Given the description of an element on the screen output the (x, y) to click on. 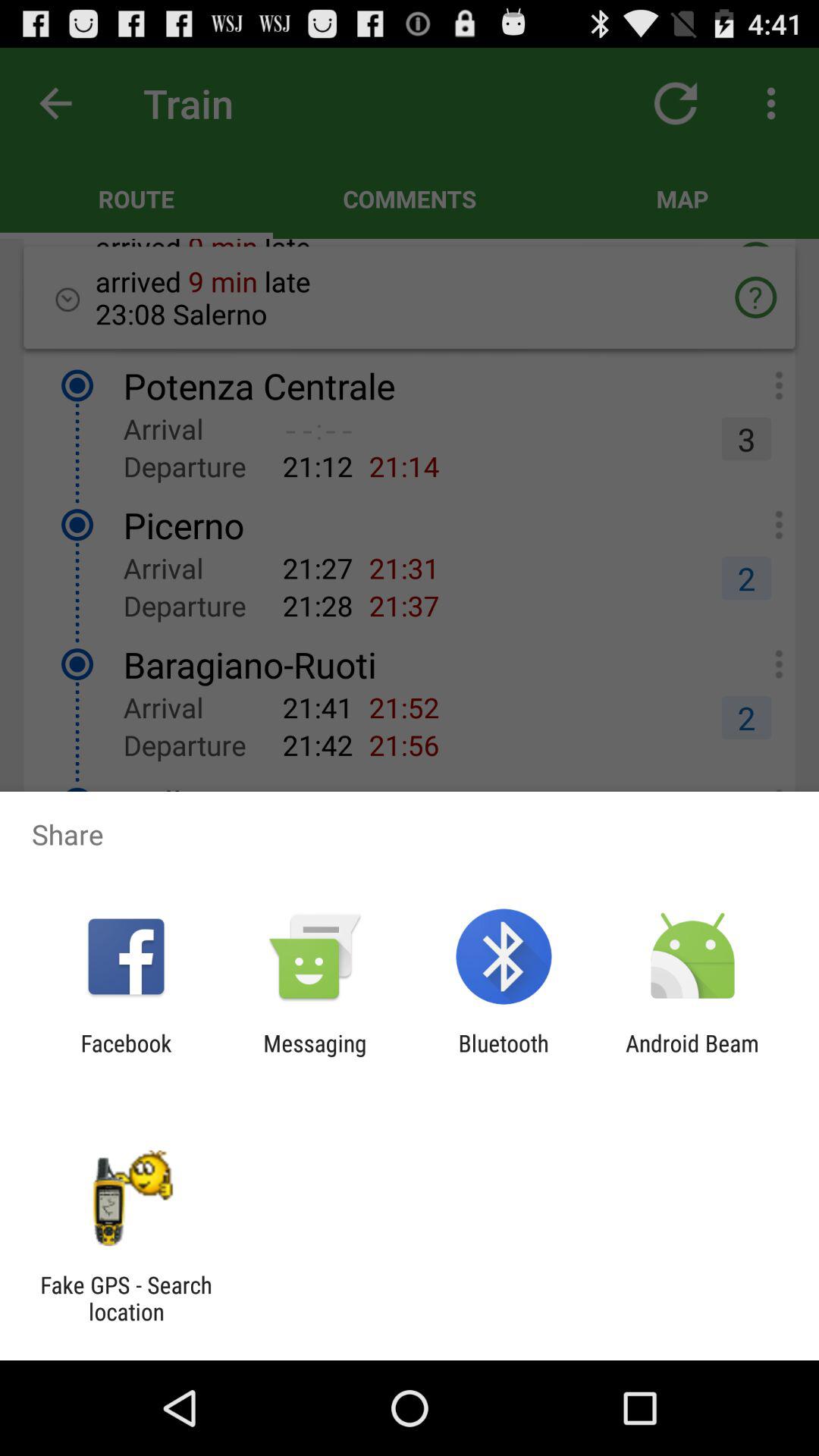
click app next to messaging (125, 1056)
